Given the description of an element on the screen output the (x, y) to click on. 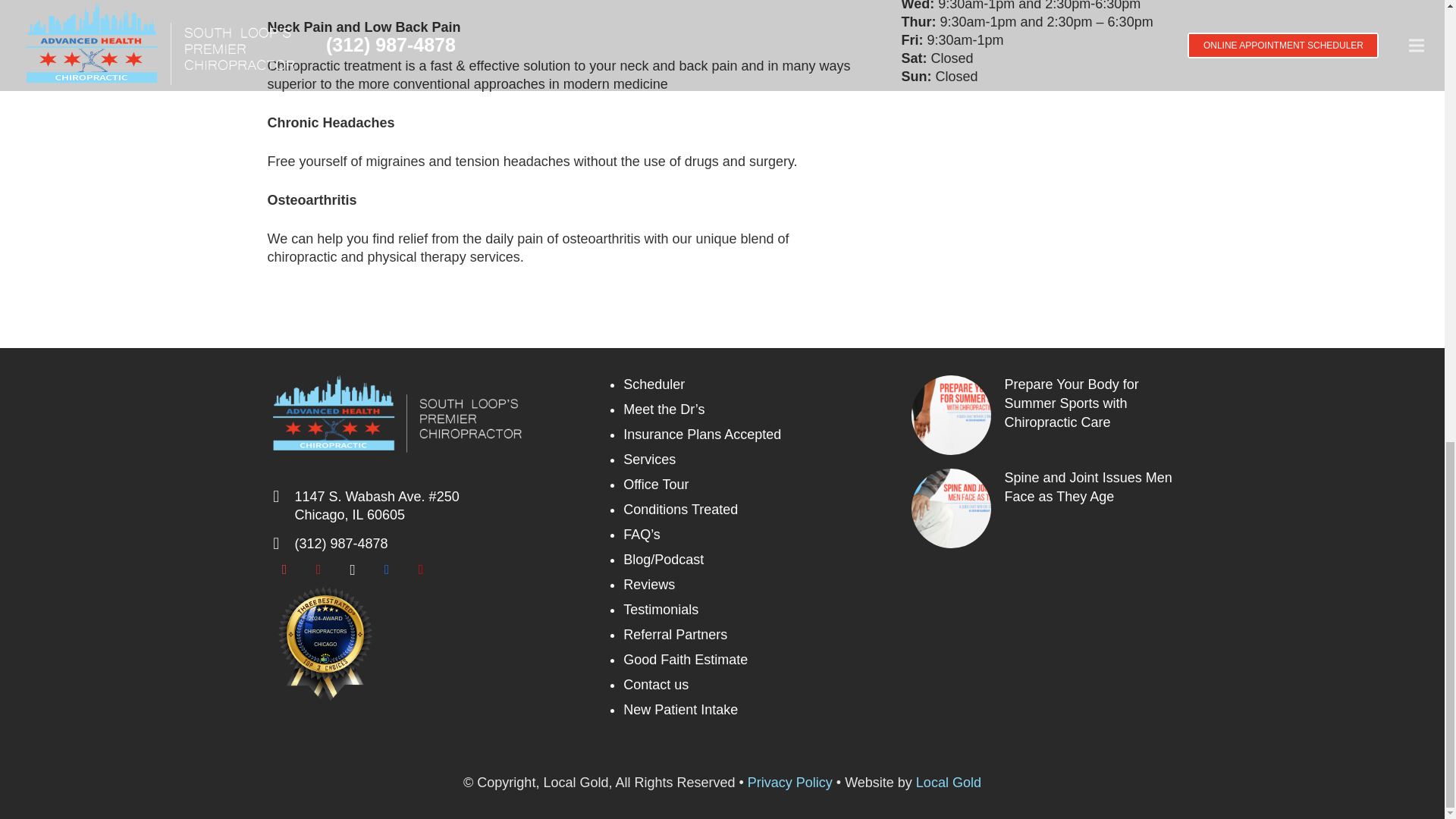
Scheduler (653, 384)
YouTube (420, 569)
Yelp (318, 569)
Instagram (351, 569)
Google (283, 569)
Insurance Plans Accepted (701, 434)
Facebook (386, 569)
Services (649, 459)
